Given the description of an element on the screen output the (x, y) to click on. 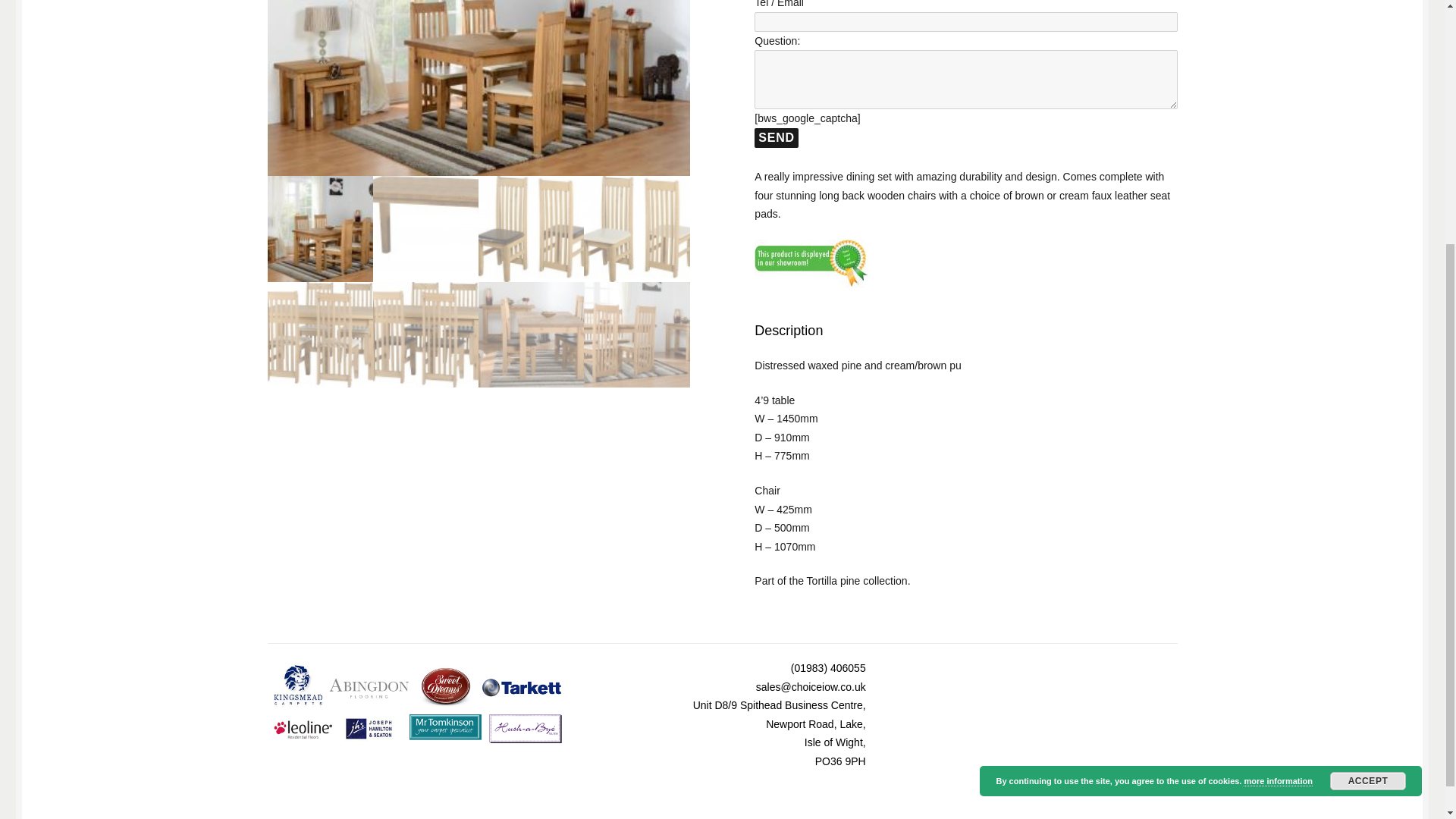
send (775, 137)
